Given the description of an element on the screen output the (x, y) to click on. 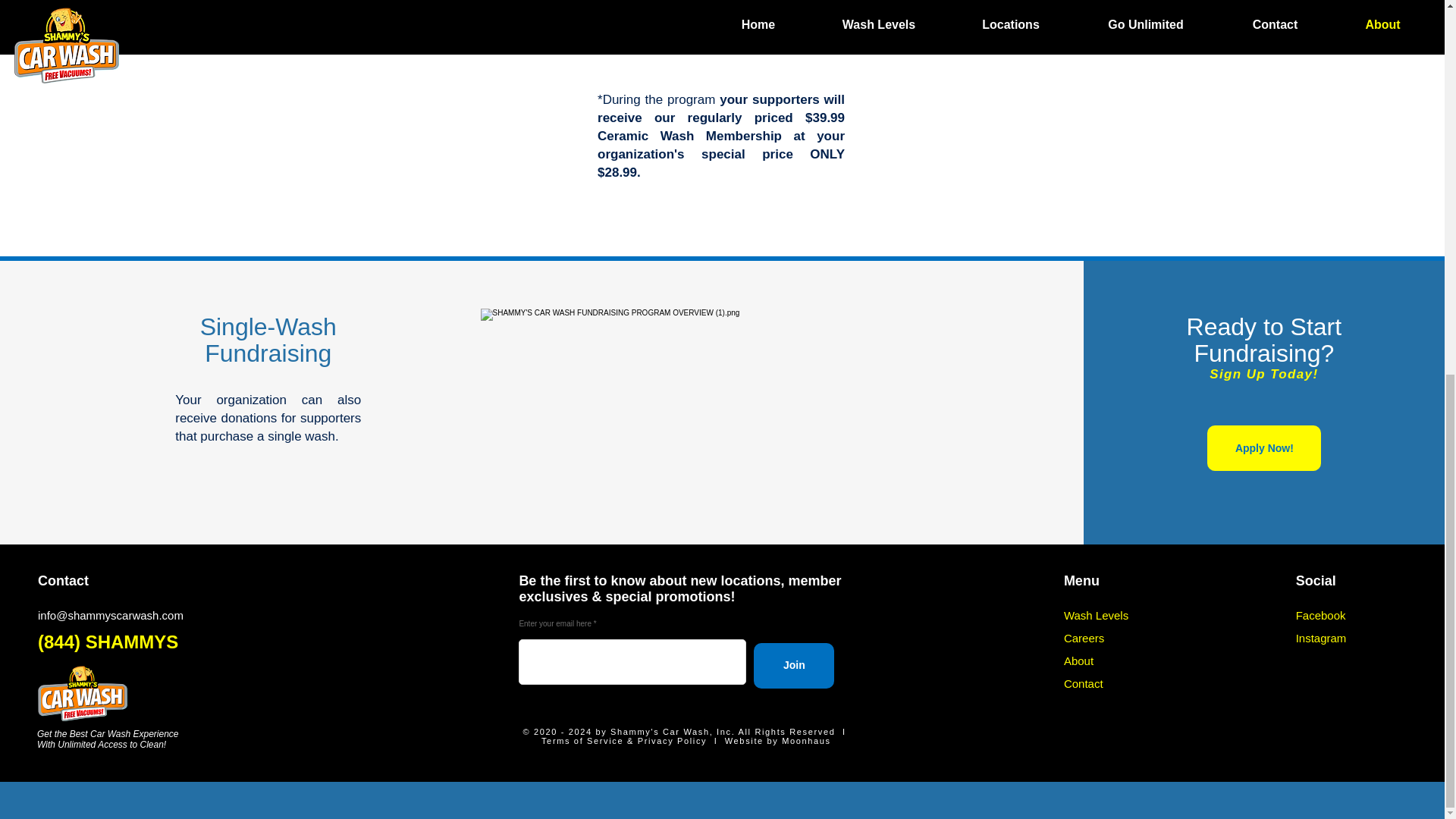
Facebook (1320, 615)
Join (794, 665)
Instagram (1320, 637)
Apply Now! (1263, 447)
Wash Levels (1096, 615)
Moonhaus (806, 740)
Contact (1083, 683)
Careers (1083, 637)
About (1078, 660)
